Given the description of an element on the screen output the (x, y) to click on. 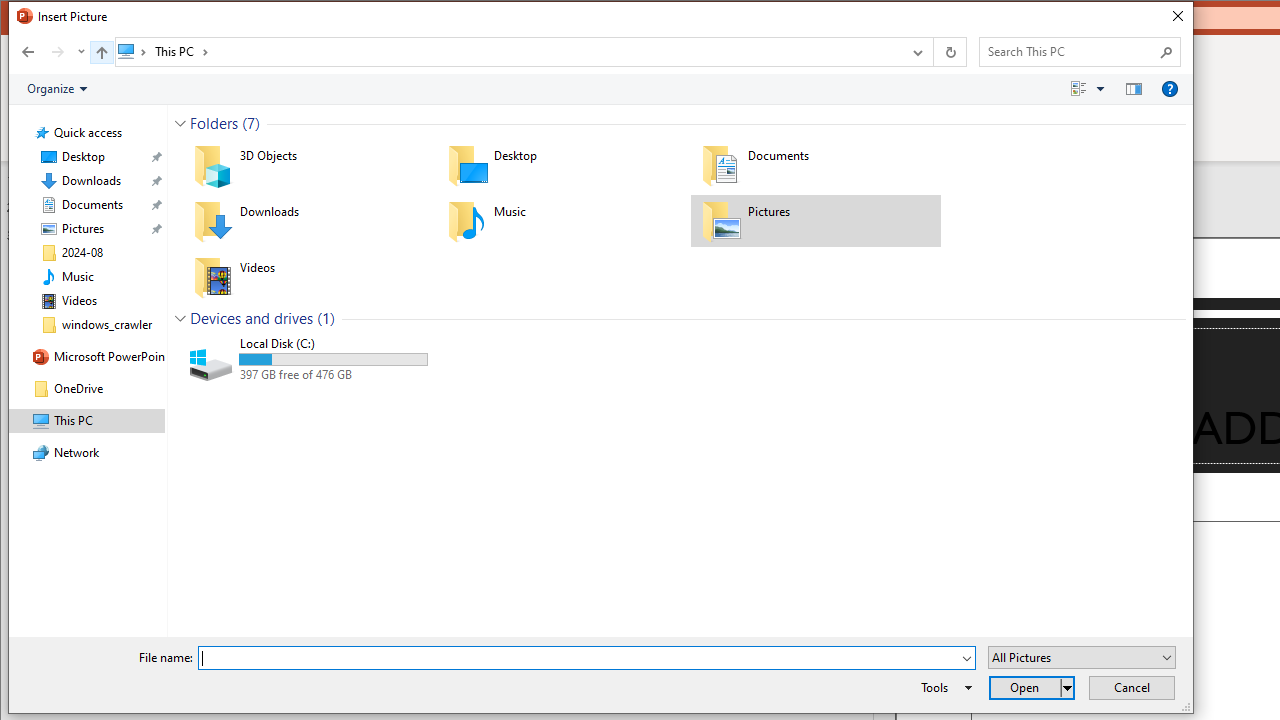
Collapse Group (180, 318)
Up to "Desktop" (Alt + Up Arrow) (101, 52)
Address: This PC (507, 51)
Previous Locations (916, 51)
Navigation buttons (50, 51)
Class: UIImage (212, 359)
Address band toolbar (932, 51)
Tools (943, 687)
Preview pane (1134, 89)
File name: (579, 658)
Command Module (600, 89)
